Given the description of an element on the screen output the (x, y) to click on. 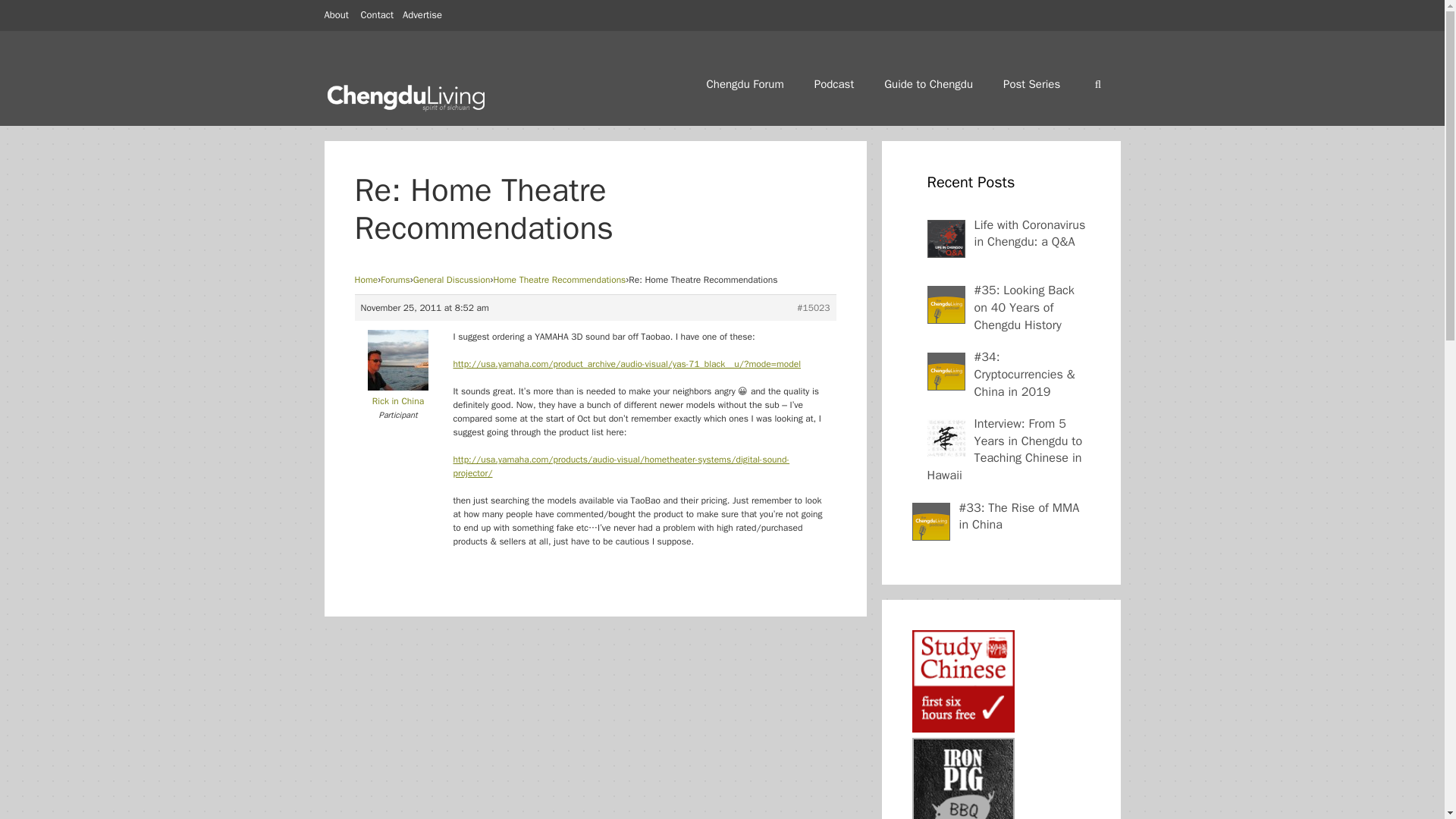
Rick in China (398, 394)
Guide to Chengdu (928, 83)
Forums (395, 279)
Chengdu Forum (745, 83)
Advertise (422, 14)
Contact (377, 14)
General Discussion (451, 279)
Chengdu Living (407, 92)
Podcast (834, 83)
View Rick in China's profile (398, 394)
